Given the description of an element on the screen output the (x, y) to click on. 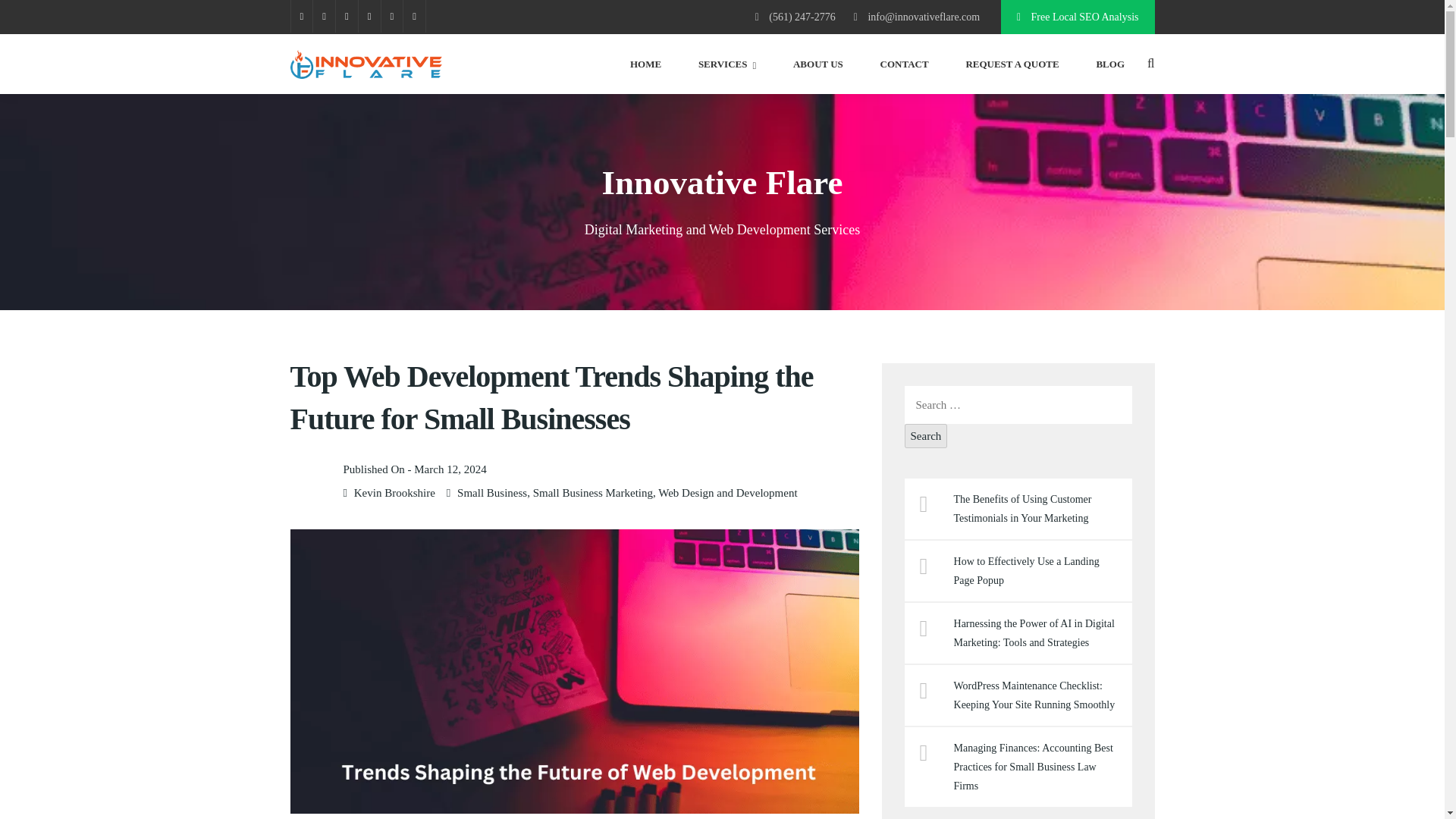
Web Design and Development (727, 492)
Free Local SEO Analysis (1077, 17)
Search (925, 435)
Search (925, 435)
March 12, 2024 (449, 469)
REQUEST A QUOTE (1011, 64)
Small Business Marketing (592, 492)
SERVICES (726, 64)
Small Business (492, 492)
Kevin Brookshire (394, 492)
